Given the description of an element on the screen output the (x, y) to click on. 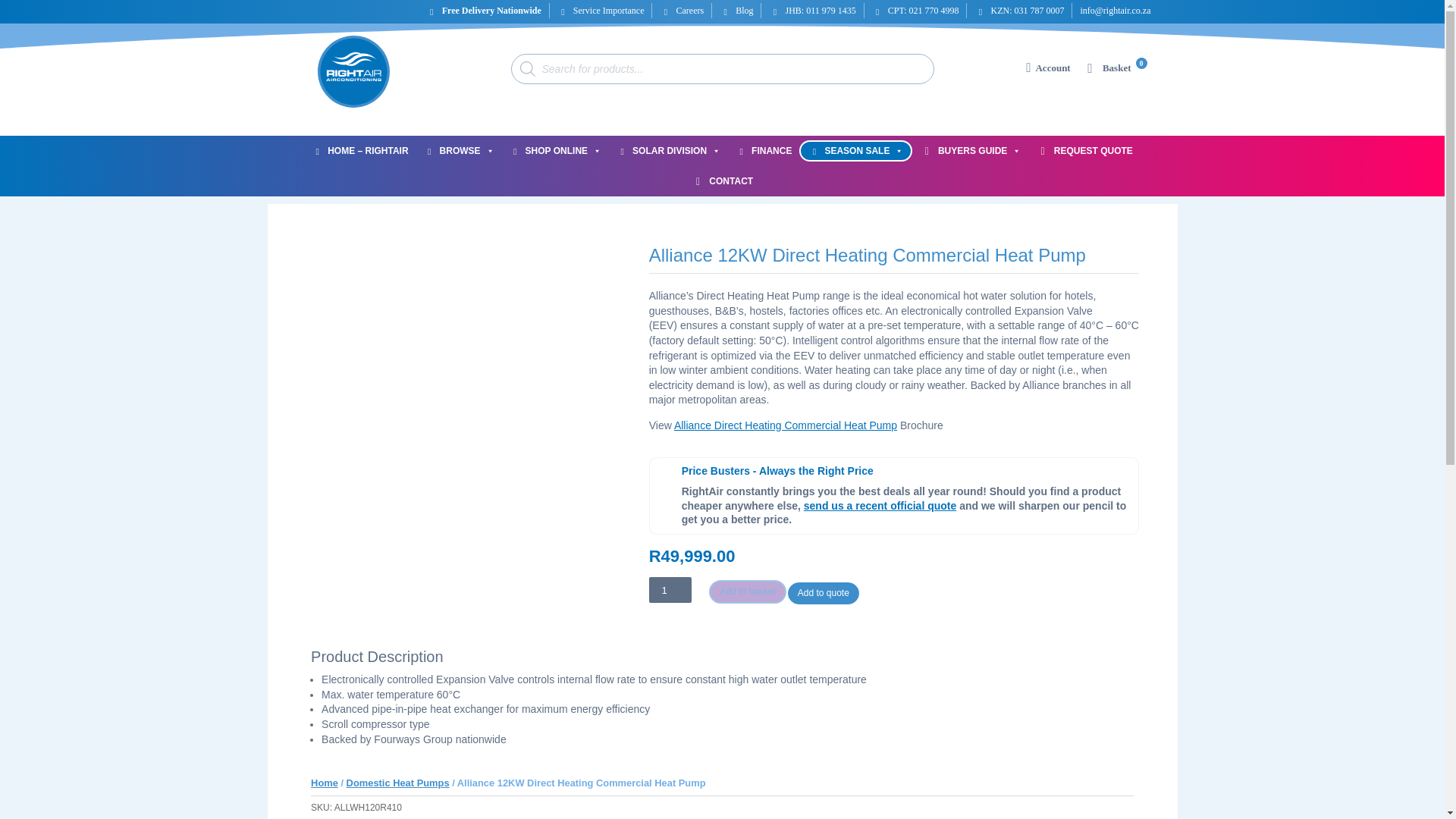
RightAir-Logo (353, 71)
1 (670, 589)
